Given the description of an element on the screen output the (x, y) to click on. 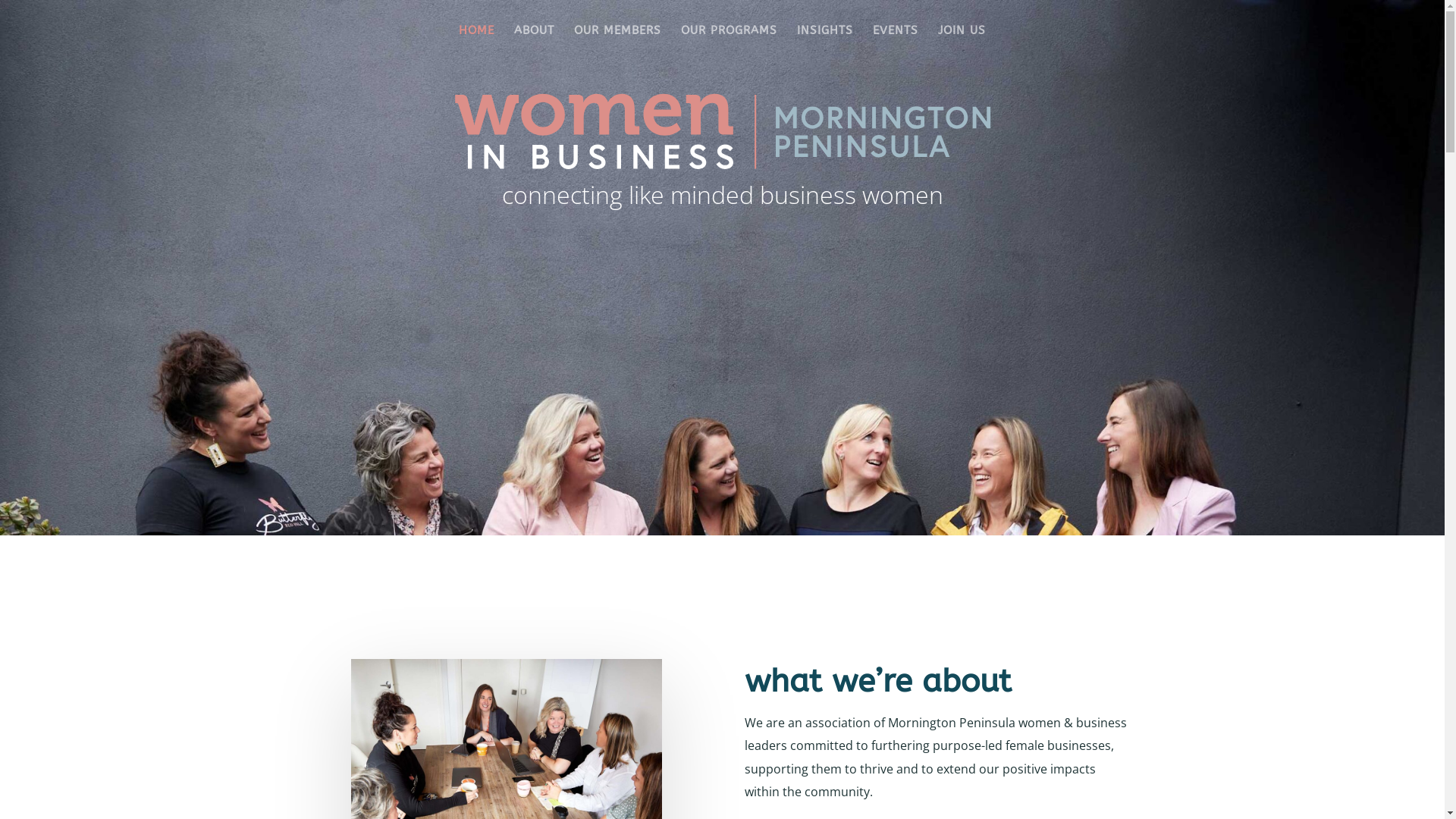
INSIGHTS Element type: text (825, 42)
OUR MEMBERS Element type: text (617, 42)
Women In Business logo full reversed 1 Element type: hover (721, 130)
Subscribe Element type: text (55, 7)
HOME Element type: text (476, 42)
OUR PROGRAMS Element type: text (728, 42)
EVENTS Element type: text (895, 42)
JOIN US Element type: text (961, 42)
ABOUT Element type: text (534, 42)
